Given the description of an element on the screen output the (x, y) to click on. 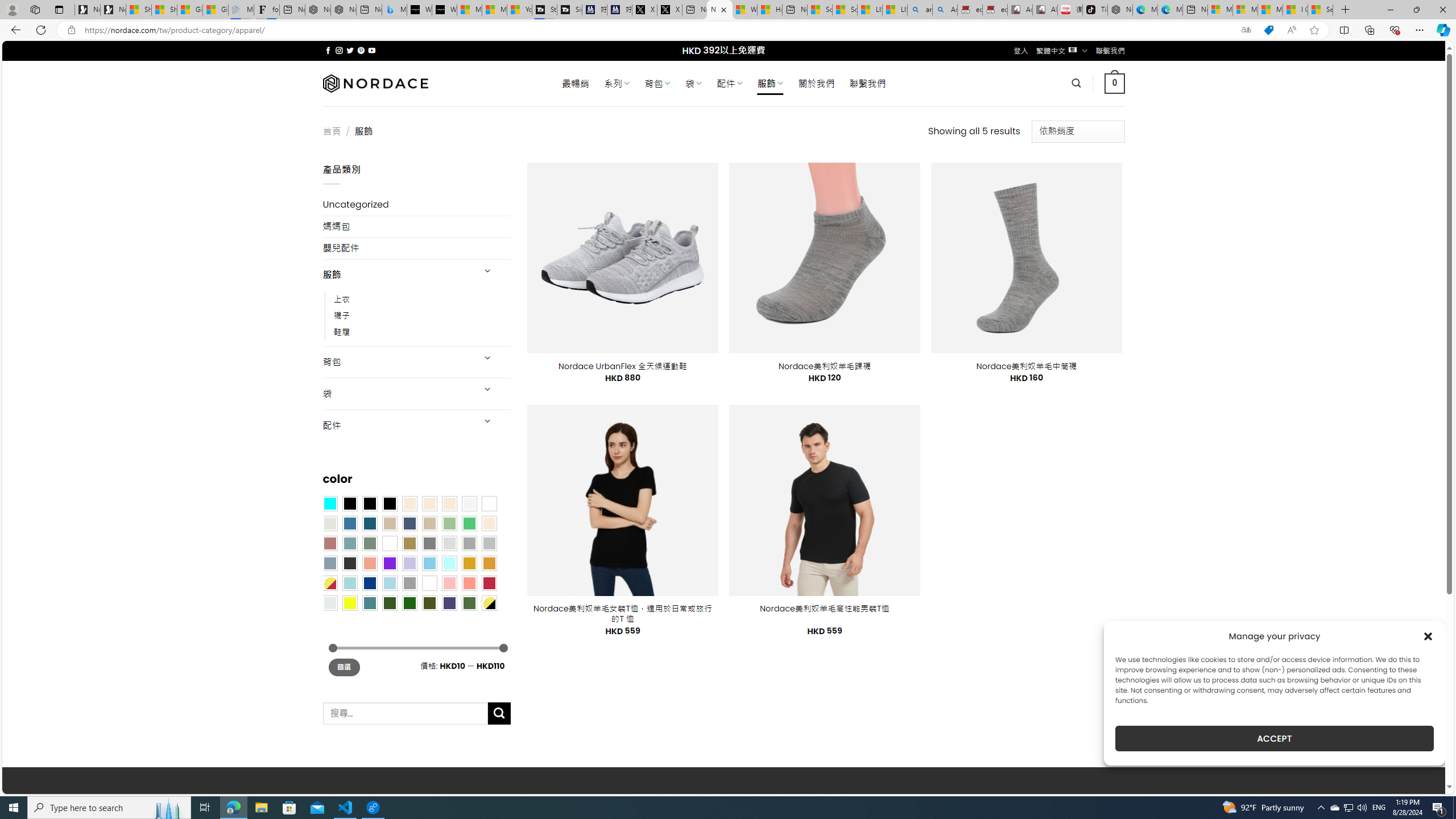
Show translate options (1245, 29)
Uncategorized (416, 204)
